Given the description of an element on the screen output the (x, y) to click on. 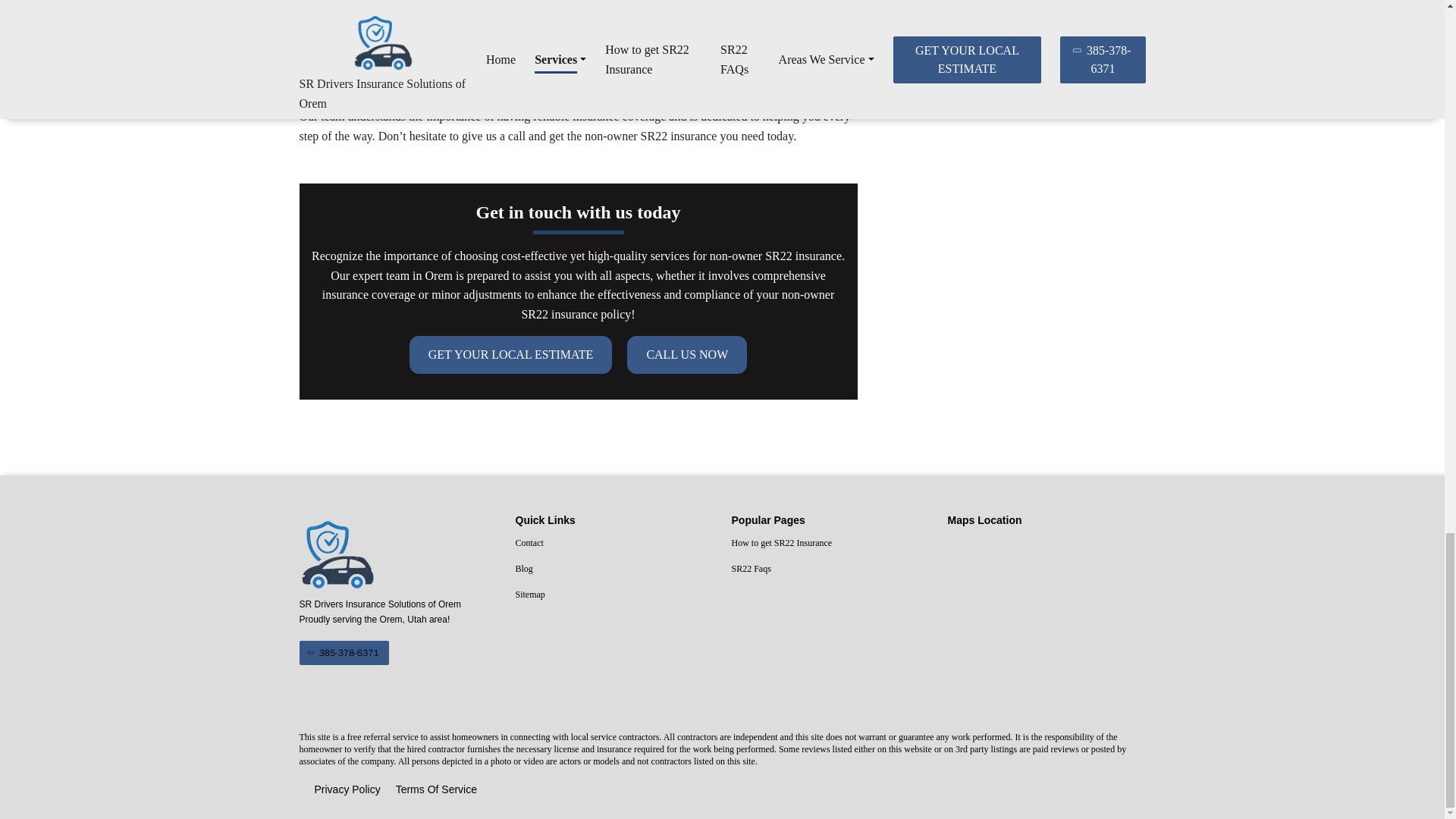
Blog (614, 569)
385-378-6371 (343, 652)
Sitemap (614, 595)
CALL US NOW (686, 354)
Contact (614, 543)
How to get SR22 Insurance (829, 543)
GET YOUR LOCAL ESTIMATE (510, 354)
Privacy Policy (347, 790)
SR22 Faqs (829, 569)
